Given the description of an element on the screen output the (x, y) to click on. 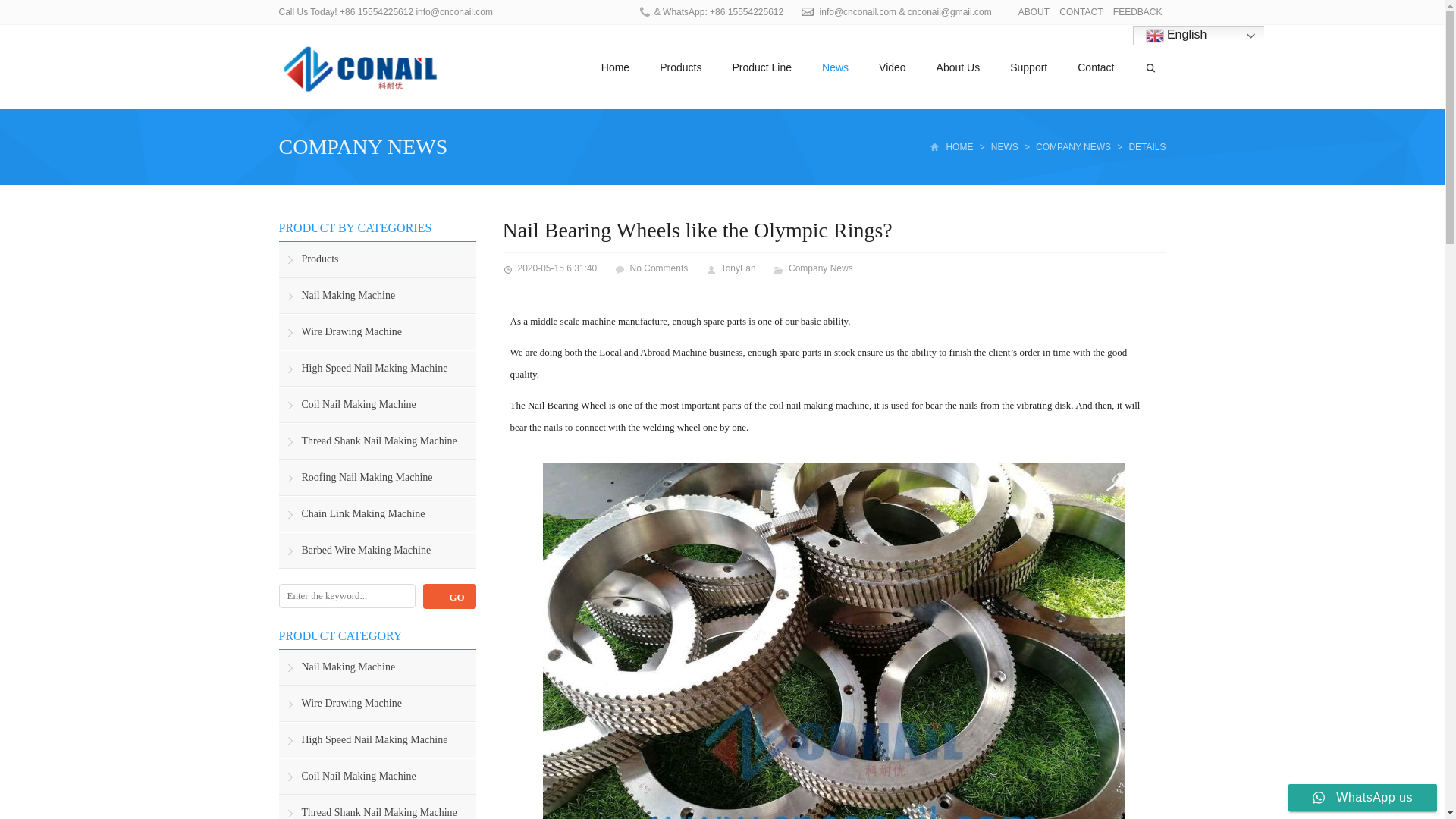
Posts by TonyFan (737, 267)
GO (449, 596)
CONTACT (1080, 11)
Conail Machine (360, 67)
Product Line (761, 66)
Company News (363, 146)
GO (449, 596)
ABOUT (1033, 11)
English (1206, 35)
FEEDBACK (1137, 11)
Search (449, 596)
